Given the description of an element on the screen output the (x, y) to click on. 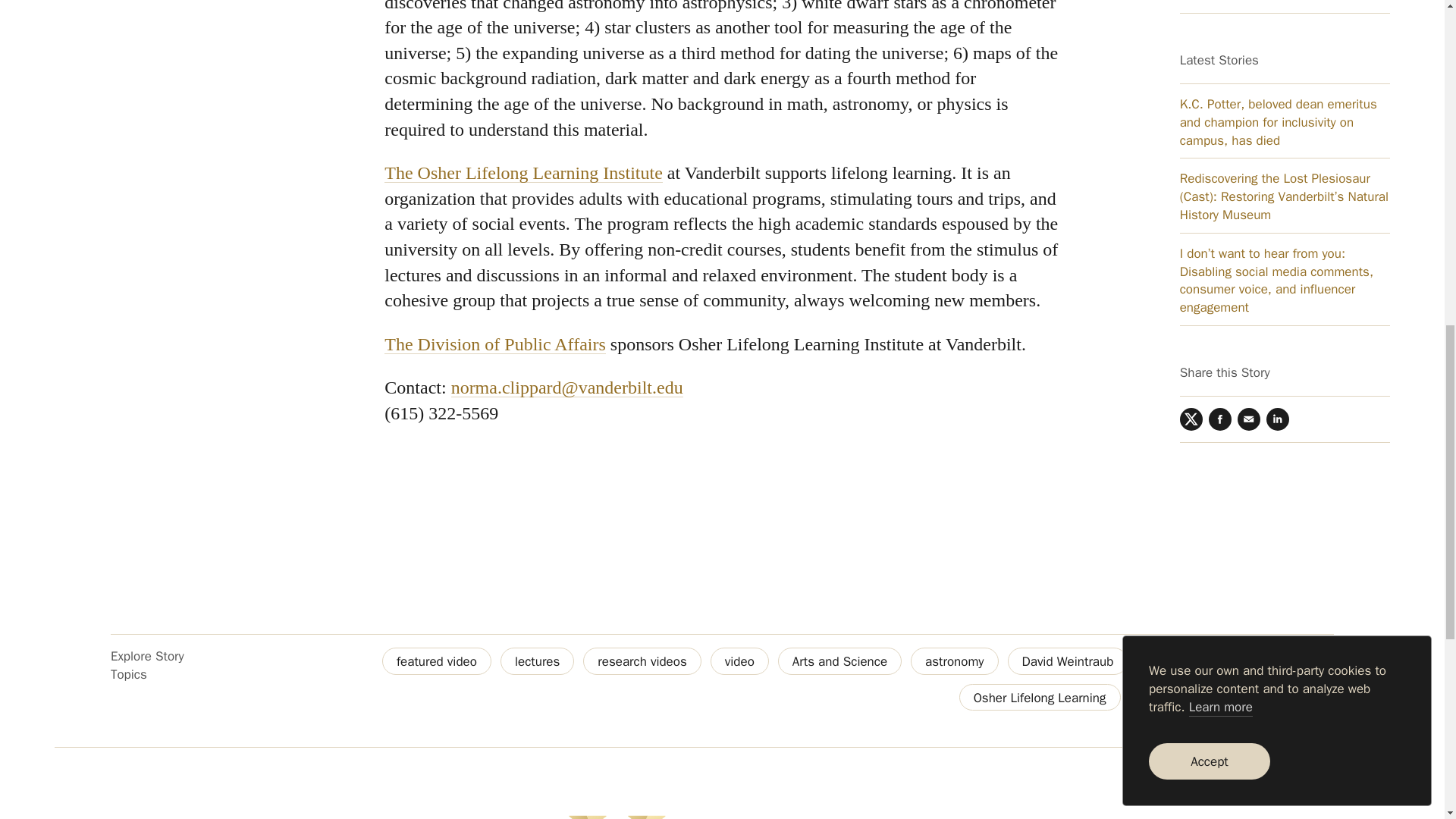
research videos (641, 660)
lectures (536, 660)
The Division of Public Affairs (494, 343)
The Osher Lifelong Learning Institute (523, 172)
featured video (436, 660)
